Given the description of an element on the screen output the (x, y) to click on. 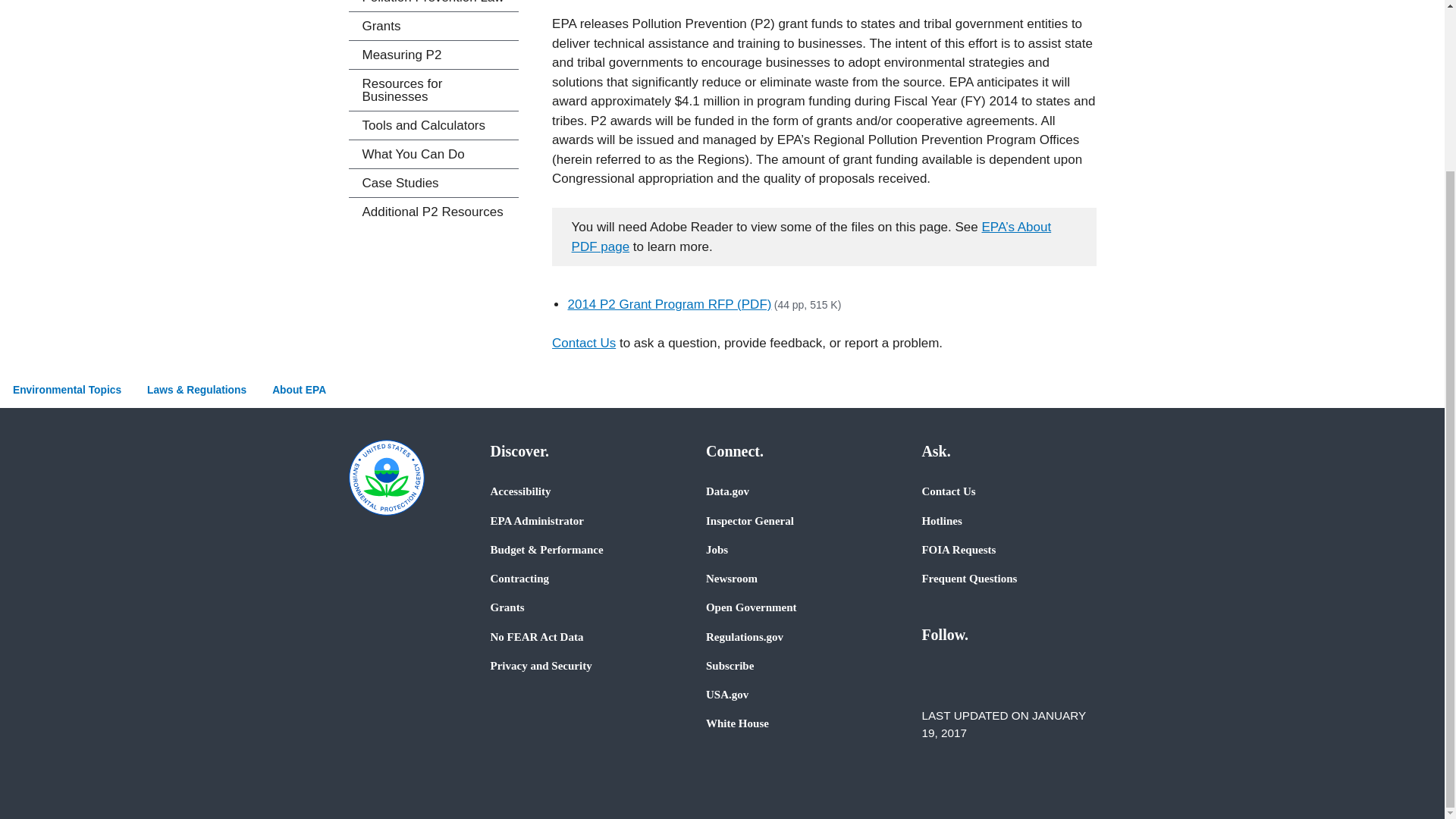
Resources for Businesses (433, 89)
Tools and Calculators (433, 125)
Contact Us (583, 342)
Pollution Prevention Law (433, 5)
Grants (433, 26)
Environmental Topics (66, 389)
Additional P2 Resources (433, 212)
What You Can Do (433, 154)
Case Studies (433, 182)
